Given the description of an element on the screen output the (x, y) to click on. 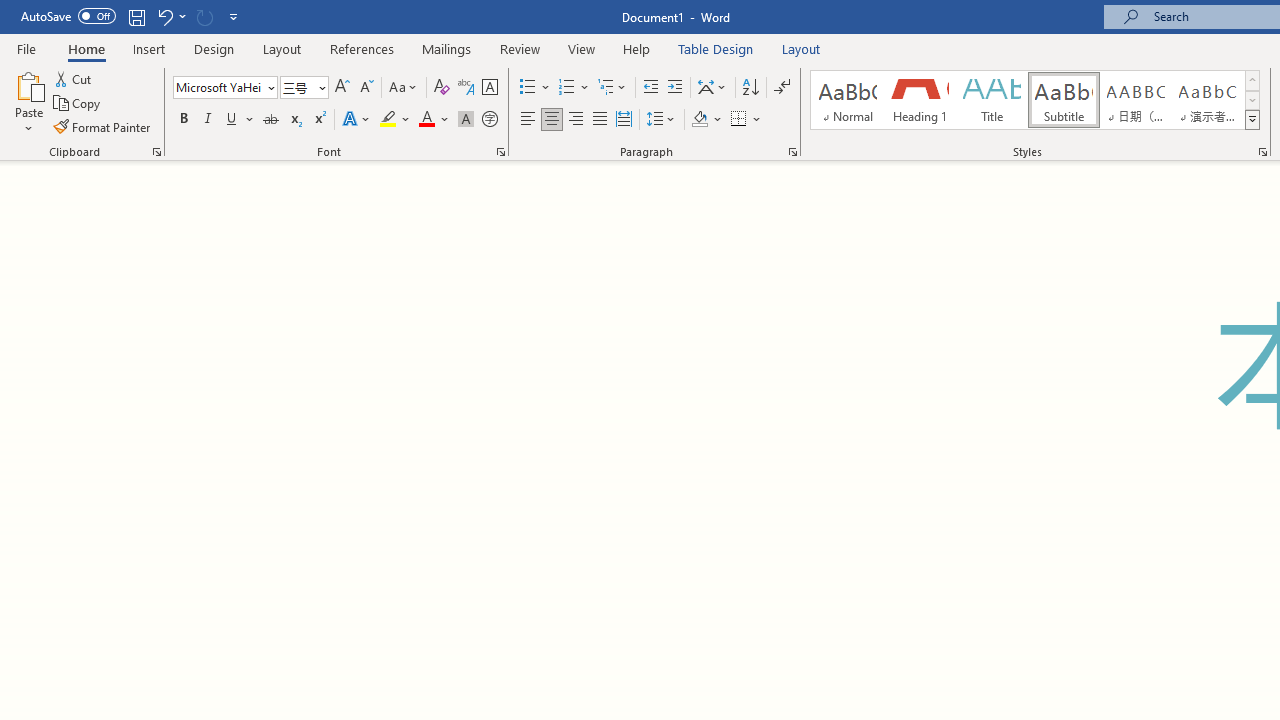
Font Size (304, 87)
References (362, 48)
Cut (73, 78)
AutomationID: QuickStylesGallery (1035, 99)
Quick Access Toolbar (131, 16)
File Tab (26, 48)
Character Border (489, 87)
Font... (500, 151)
Character Shading (465, 119)
Strikethrough (270, 119)
Text Effects and Typography (357, 119)
Save (136, 15)
